Given the description of an element on the screen output the (x, y) to click on. 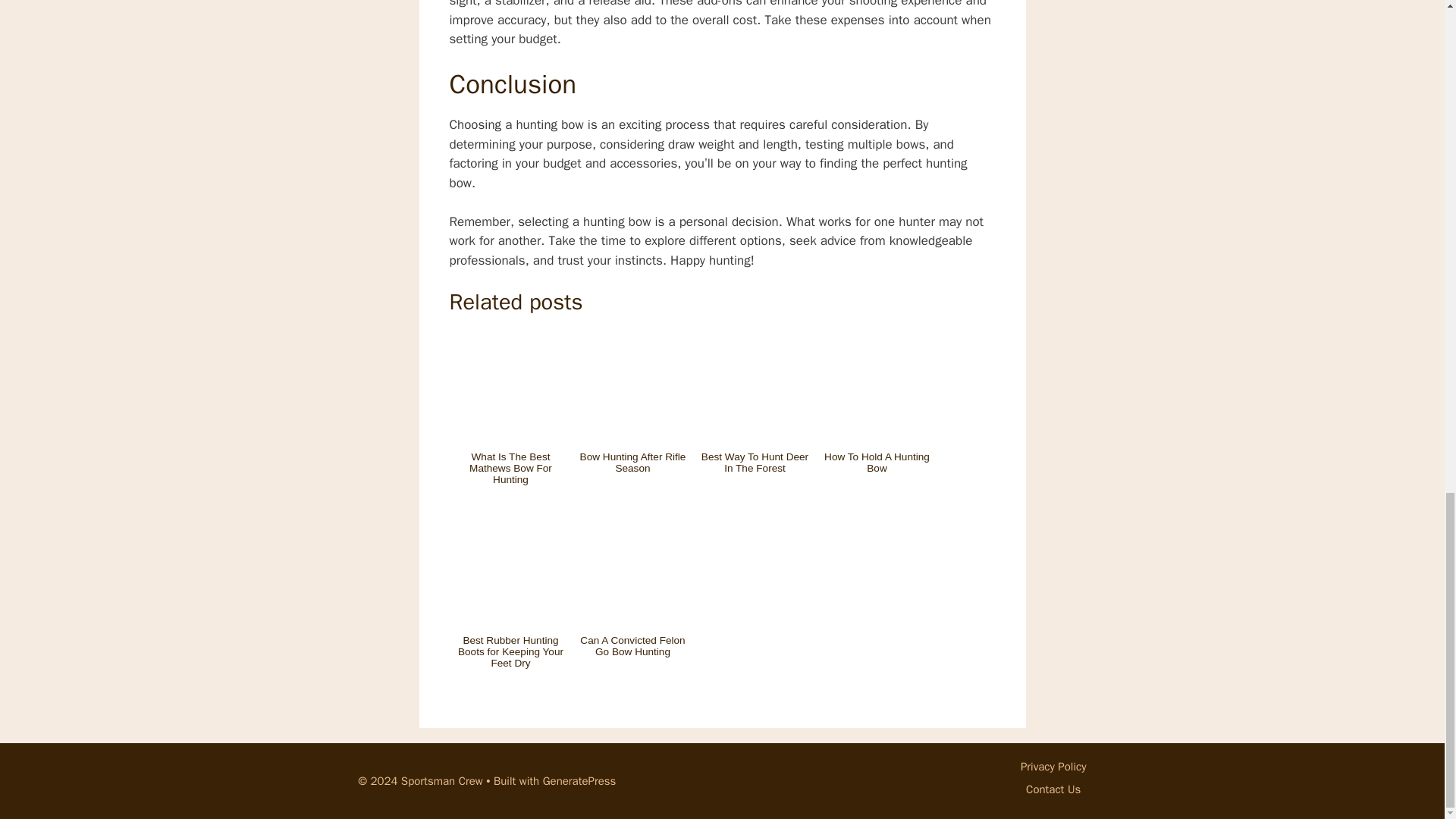
Privacy Policy (1053, 766)
